Given the description of an element on the screen output the (x, y) to click on. 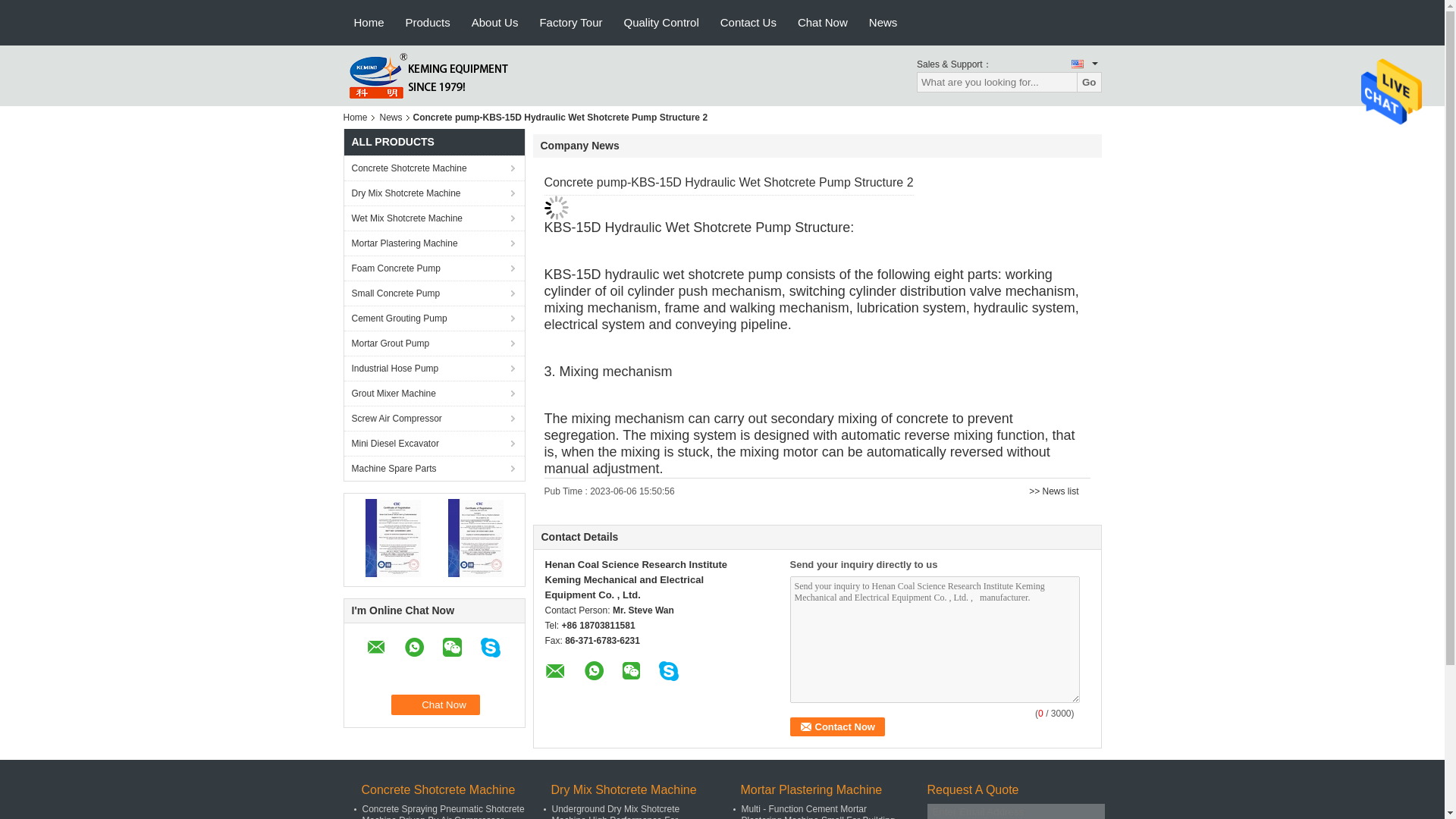
Wet Mix Shotcrete Machine (433, 217)
Small Concrete Pump (433, 292)
Products (427, 22)
Home (357, 117)
Go (1089, 82)
Foam Concrete Pump (433, 267)
Cement Grouting Pump (433, 317)
Chat Now (435, 704)
Concrete Shotcrete Machine (433, 167)
About Us (495, 22)
